Given the description of an element on the screen output the (x, y) to click on. 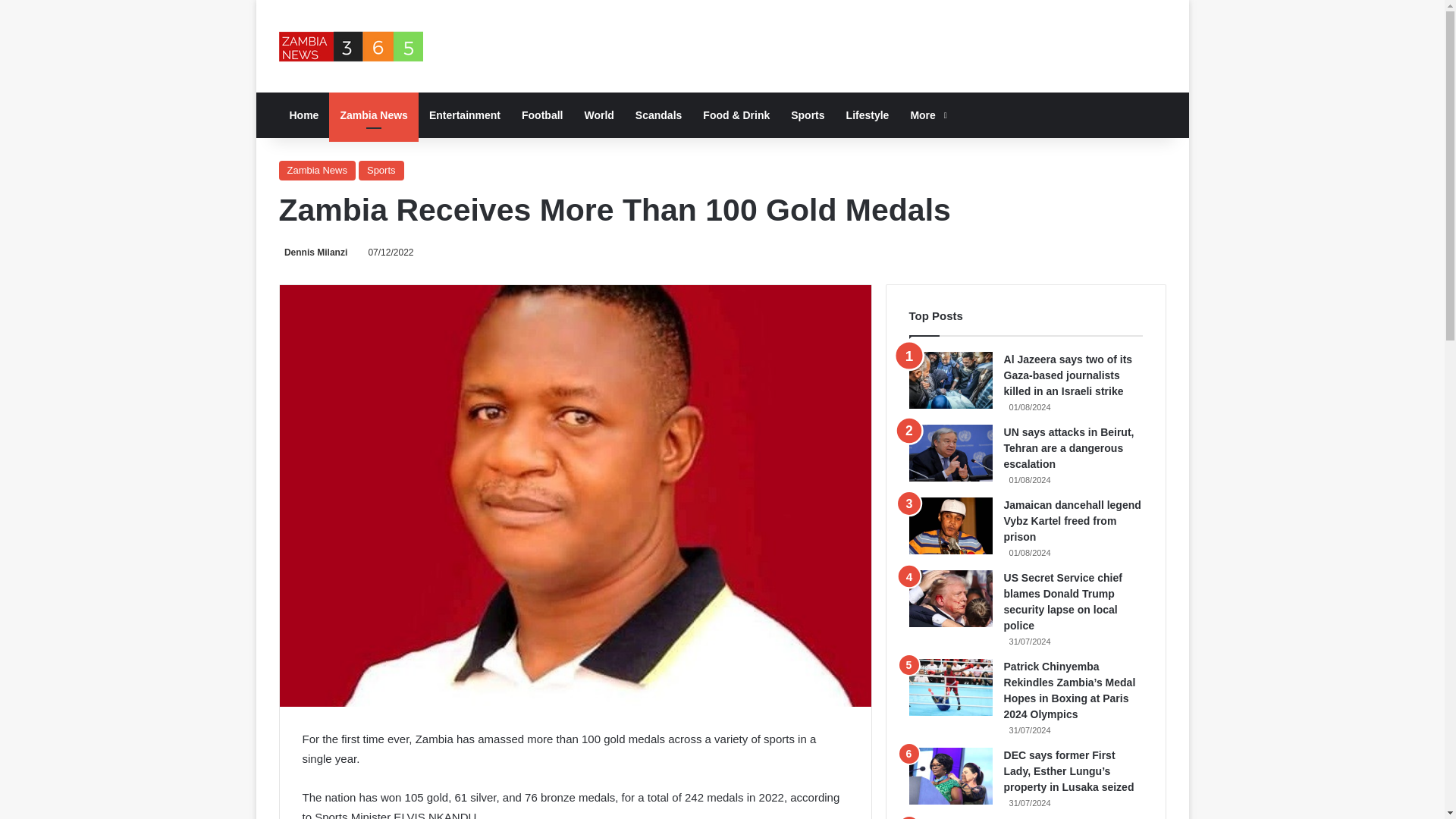
Zambia News365 (351, 46)
Sports (381, 170)
Dennis Milanzi (313, 252)
Football (542, 115)
Scandals (658, 115)
Dennis Milanzi (313, 252)
Zambia News (317, 170)
Lifestyle (867, 115)
World (598, 115)
